Given the description of an element on the screen output the (x, y) to click on. 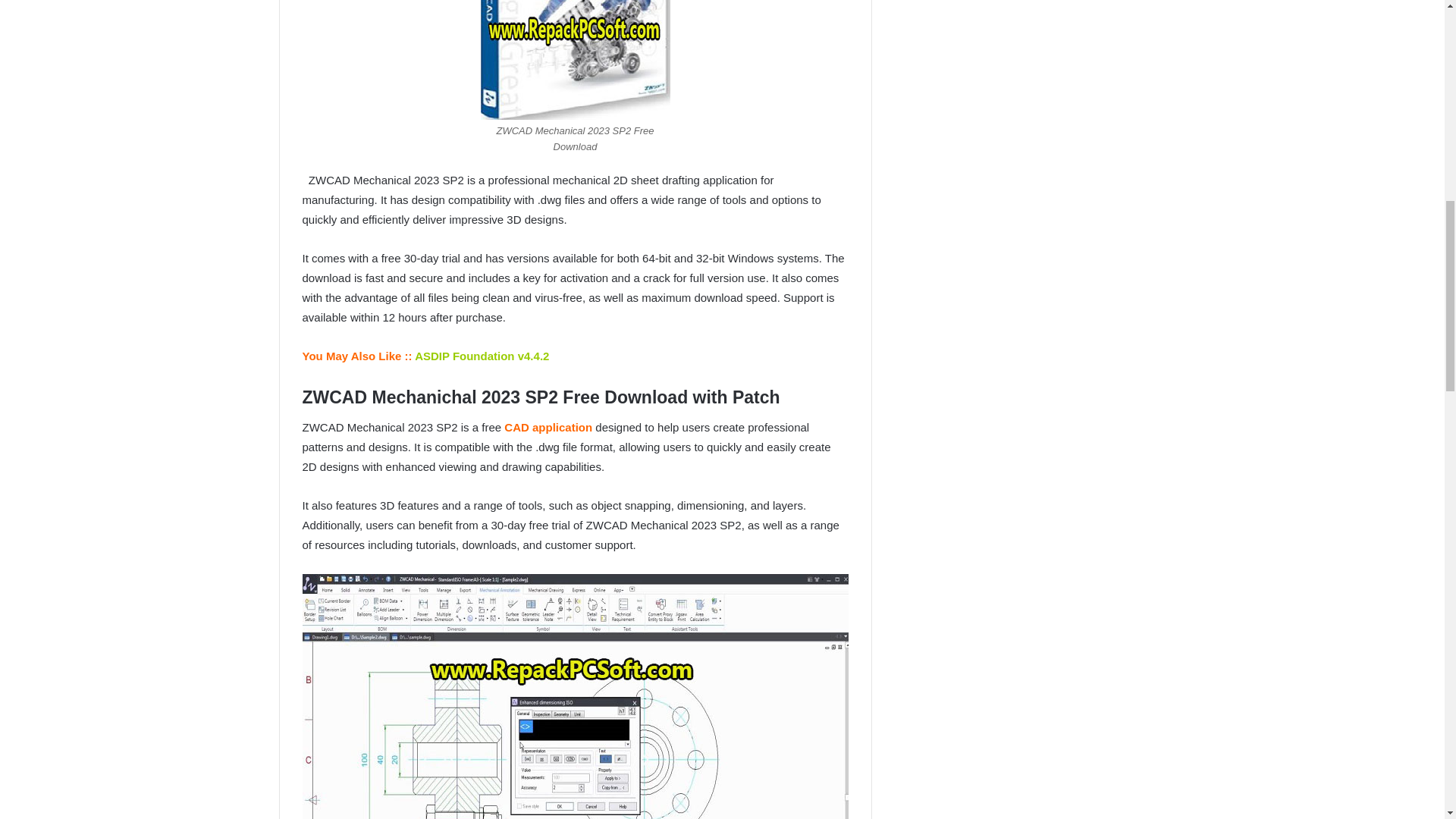
ZWCAD Mechanical 2023 SP2 Free Download (574, 59)
CAD application (546, 427)
ASDIP Foundation v4.4.2 (481, 355)
ZWCAD Mechanichal 2023 SP2 Free Download with Patch (574, 696)
